Given the description of an element on the screen output the (x, y) to click on. 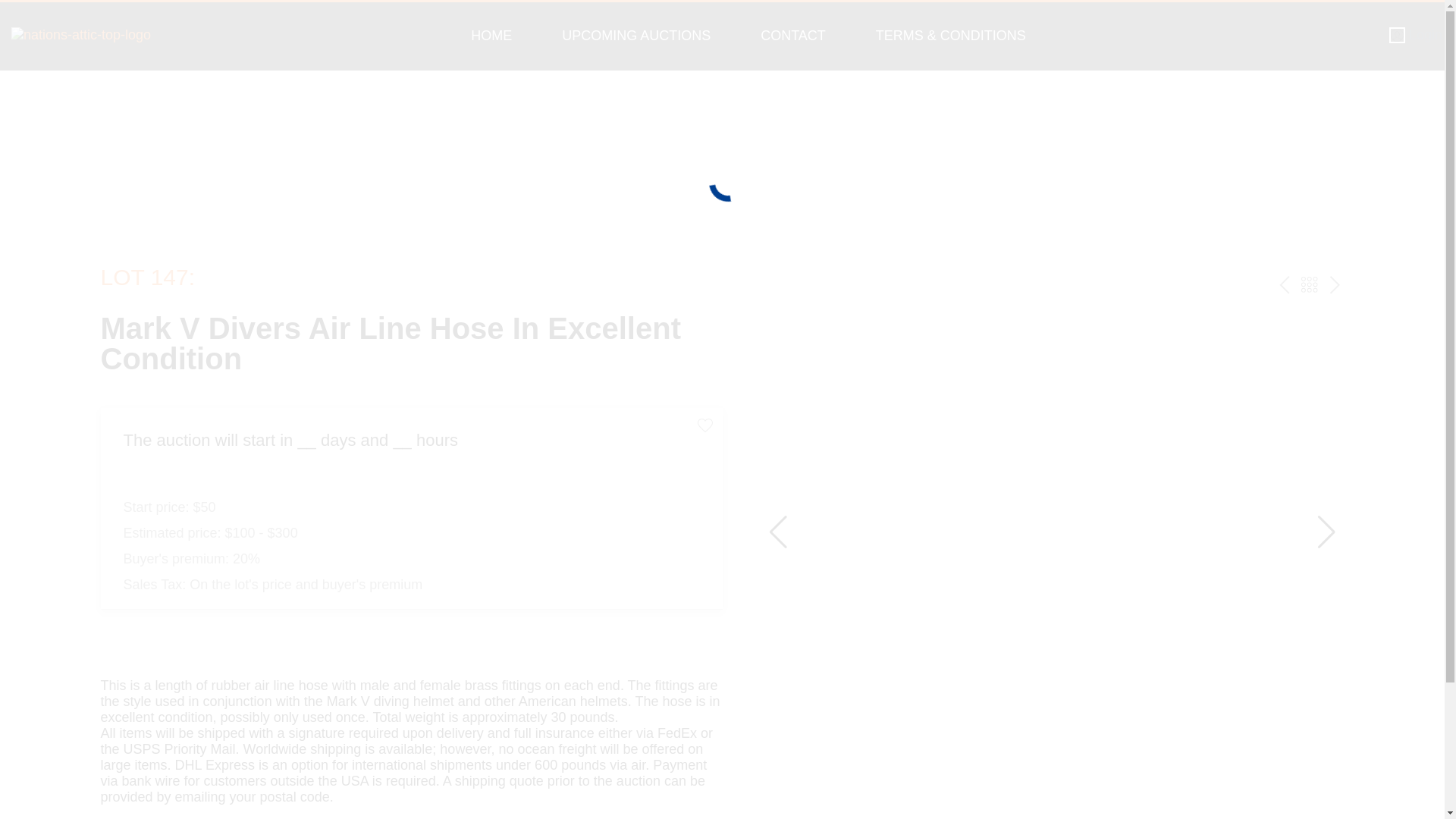
nations-attic-top-logo (81, 35)
PREV (1284, 284)
Login (1415, 35)
NEXT (1333, 284)
UPCOMING AUCTIONS (636, 35)
CONTACT (793, 35)
HOME (491, 35)
